Given the description of an element on the screen output the (x, y) to click on. 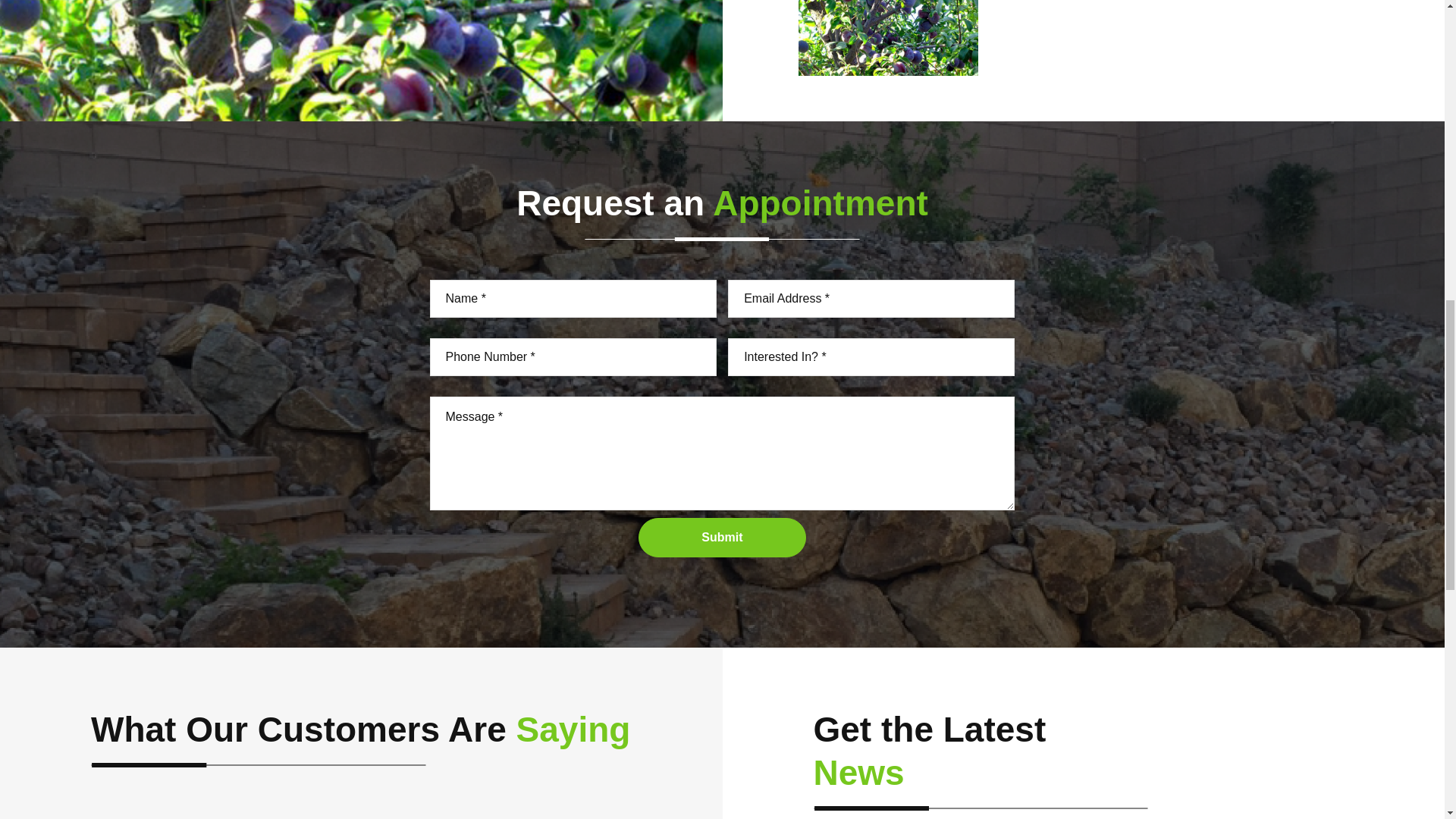
Submit (722, 537)
